Given the description of an element on the screen output the (x, y) to click on. 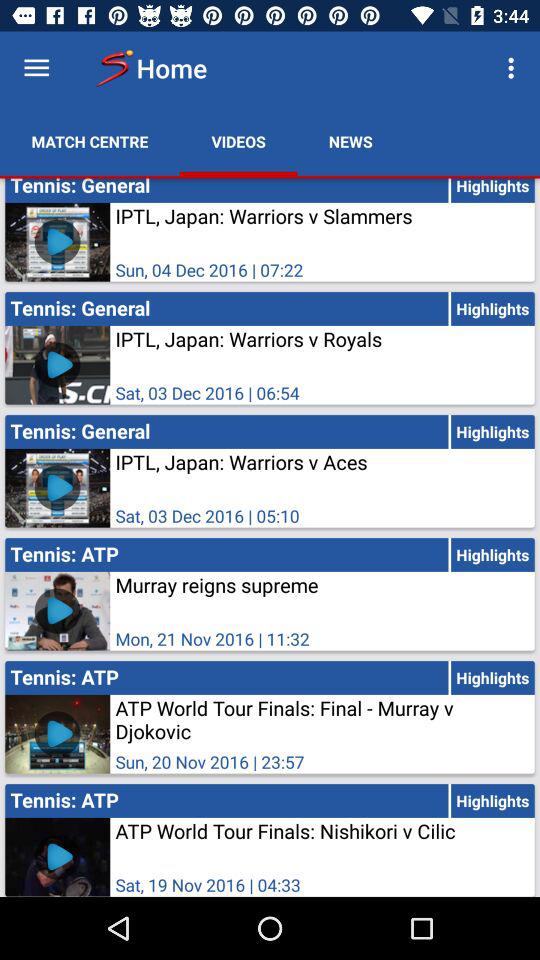
select app to the left of the news (238, 141)
